Given the description of an element on the screen output the (x, y) to click on. 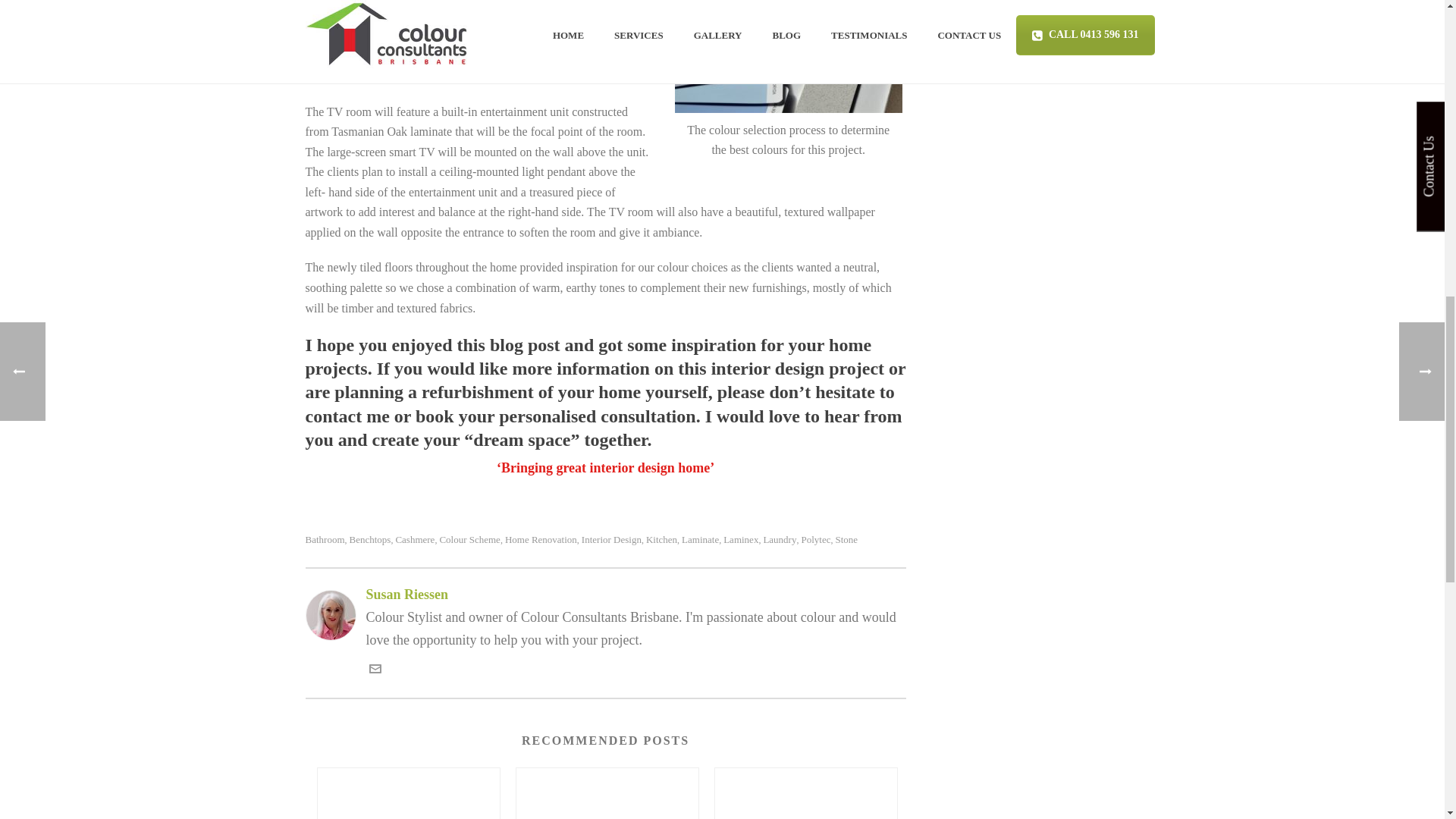
Paint colour schemes for the exterior of your home (408, 793)
